Given the description of an element on the screen output the (x, y) to click on. 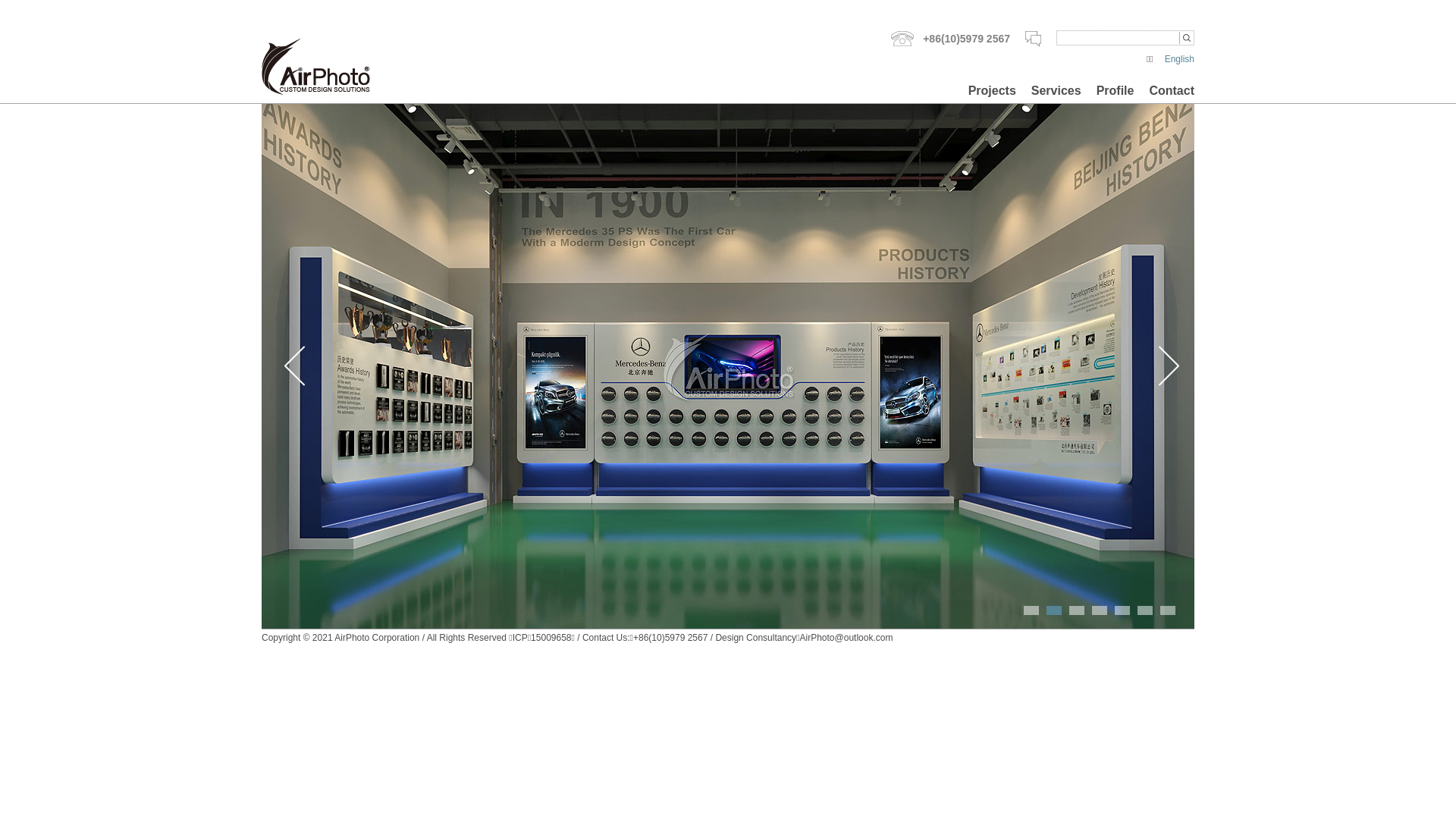
Services Element type: text (1056, 90)
Mercedes-Benz | (BBAC) Beijing Display Design Element type: hover (727, 365)
Projects Element type: text (992, 90)
+86(10)5979 2567 Element type: text (950, 38)
AirPhoto@outlook.com Element type: text (845, 637)
Contact Element type: text (1171, 90)
English Element type: text (1179, 58)
Profile Element type: text (1115, 90)
